Given the description of an element on the screen output the (x, y) to click on. 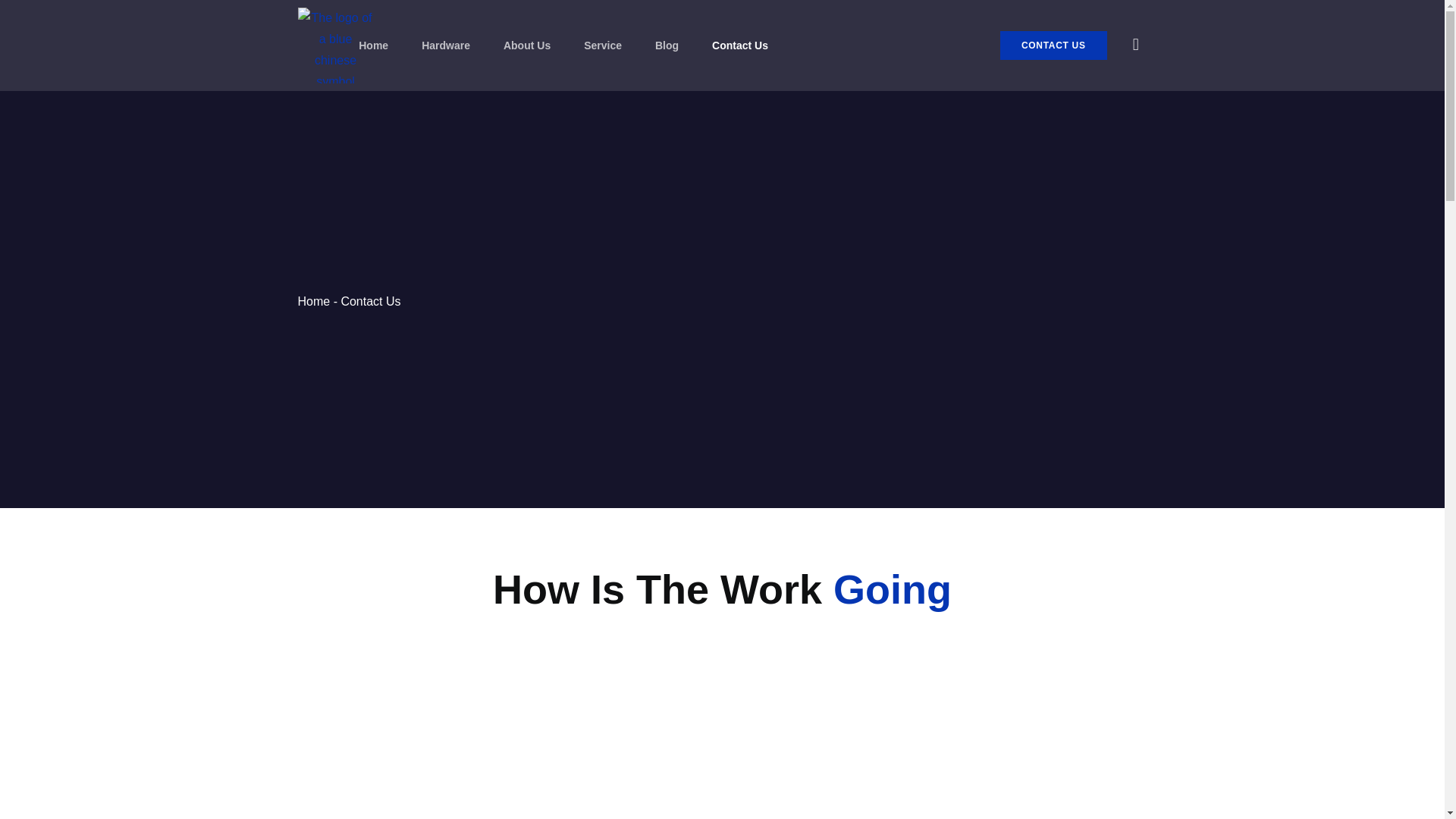
CONTACT US (1053, 45)
Service (602, 45)
Home (373, 45)
Contact Us (739, 45)
About Us (526, 45)
Home (313, 300)
Hardware (446, 45)
